Given the description of an element on the screen output the (x, y) to click on. 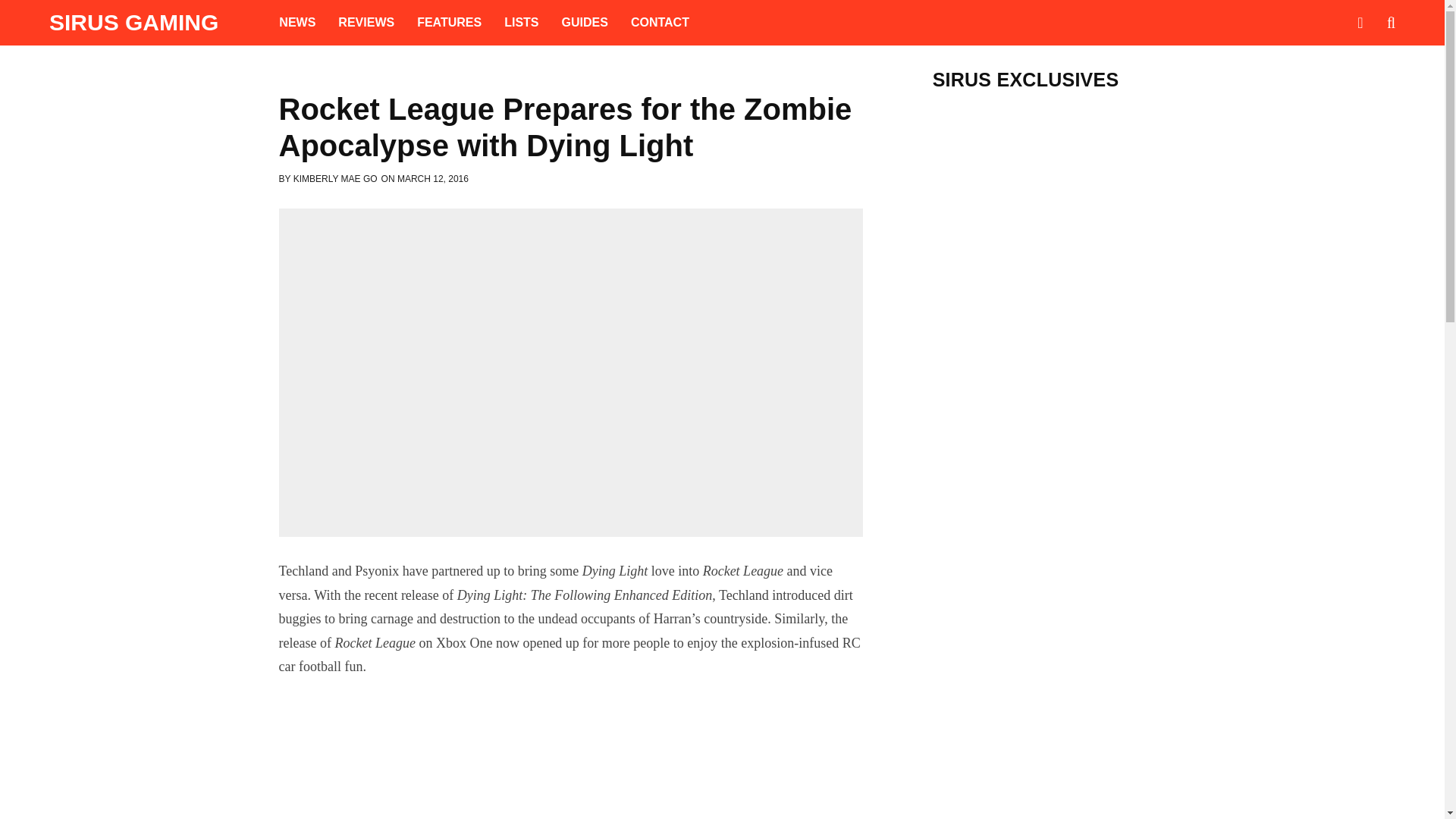
LISTS (521, 22)
SIRUS GAMING (133, 22)
GUIDES (585, 22)
BY KIMBERLY MAE GO (328, 178)
CONTACT (660, 22)
REVIEWS (366, 22)
NEWS (296, 22)
FEATURES (449, 22)
